Given the description of an element on the screen output the (x, y) to click on. 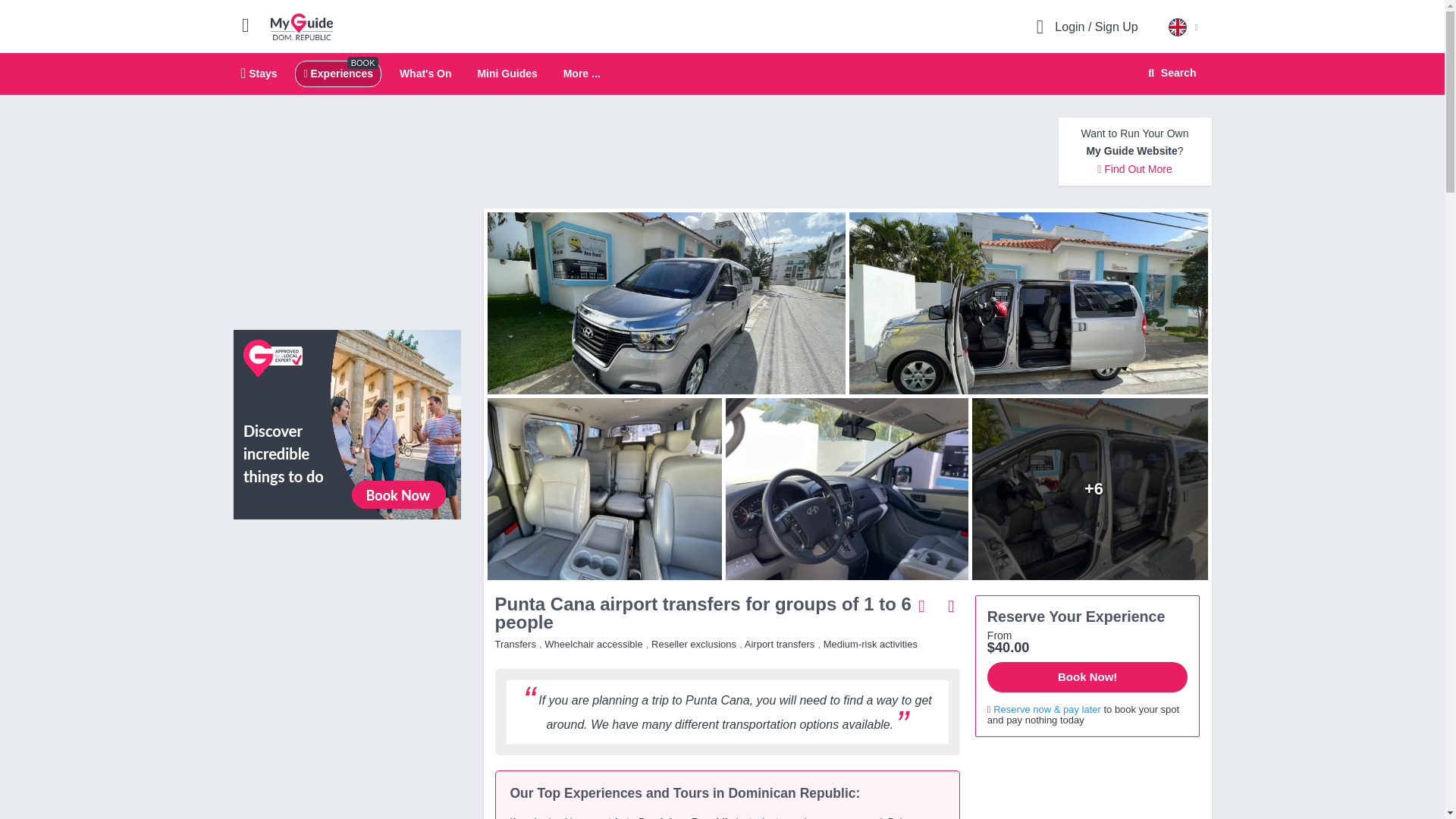
GetYourGuide Widget (1087, 783)
Search (1169, 72)
Punta Cana airport transfers for groups of 1 to 6 people (1093, 488)
My Guide Dominican Republic (301, 25)
Mini Guides (507, 73)
Punta Cana airport transfers for groups of 1 to 6 people (662, 302)
Stays (721, 74)
More ... (259, 73)
Punta Cana airport transfers for groups of 1 to 6 people (581, 73)
Punta Cana airport transfers for groups of 1 to 6 people (600, 488)
What's On (846, 488)
GetYourGuide Widget (424, 73)
Experiences (346, 599)
Punta Cana airport transfers for groups of 1 to 6 people (337, 73)
